Given the description of an element on the screen output the (x, y) to click on. 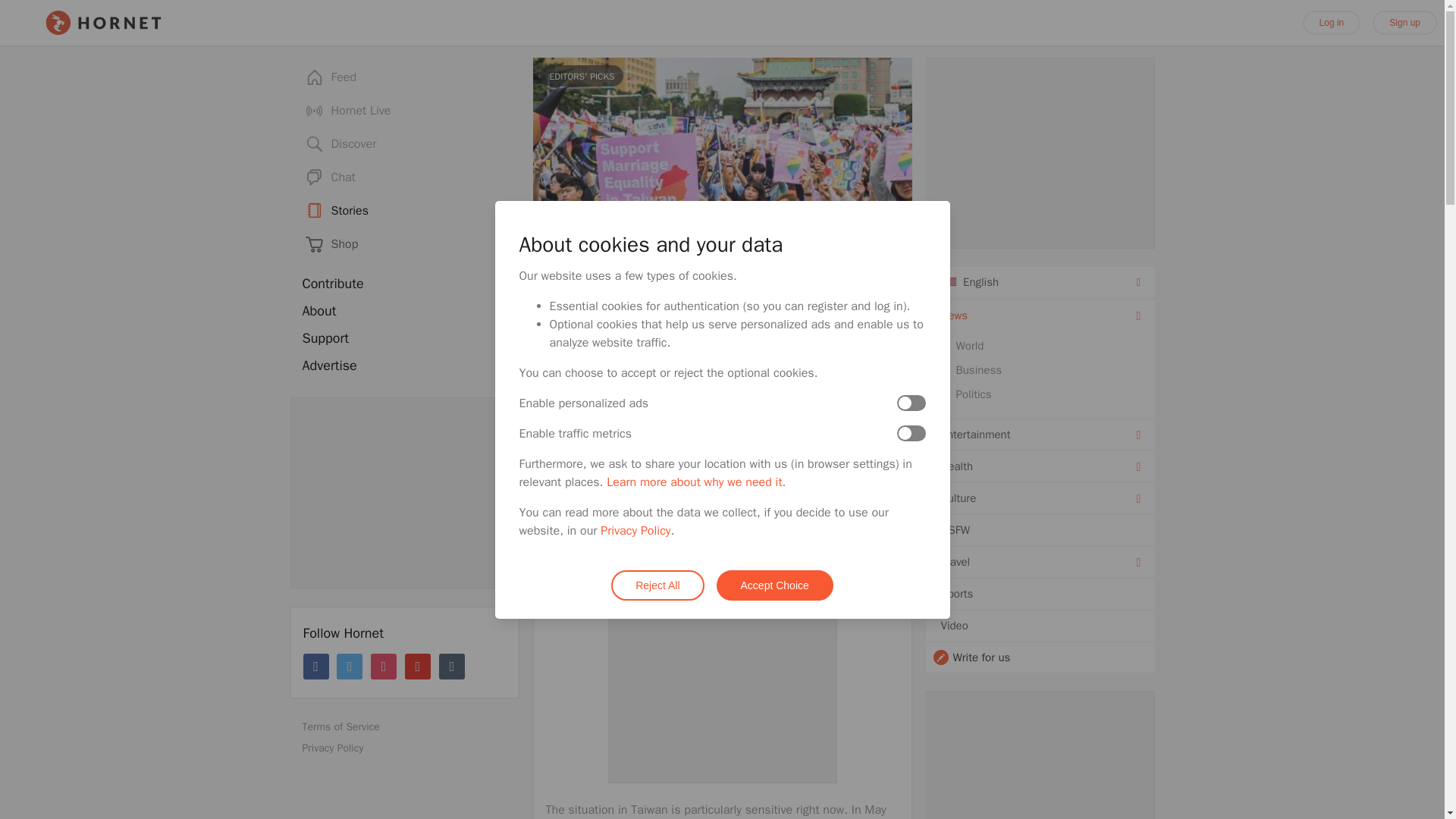
Support (403, 338)
Feed (403, 76)
Log in (1332, 22)
Stories (403, 210)
Send (811, 406)
Taiwan (564, 466)
November referendum (604, 500)
Hornet Live (403, 110)
Advertise (403, 365)
Matt Baume (625, 355)
Contribute (403, 283)
Chat (403, 176)
Support (403, 338)
Terms of Service (408, 726)
3rd party ad content (721, 687)
